Given the description of an element on the screen output the (x, y) to click on. 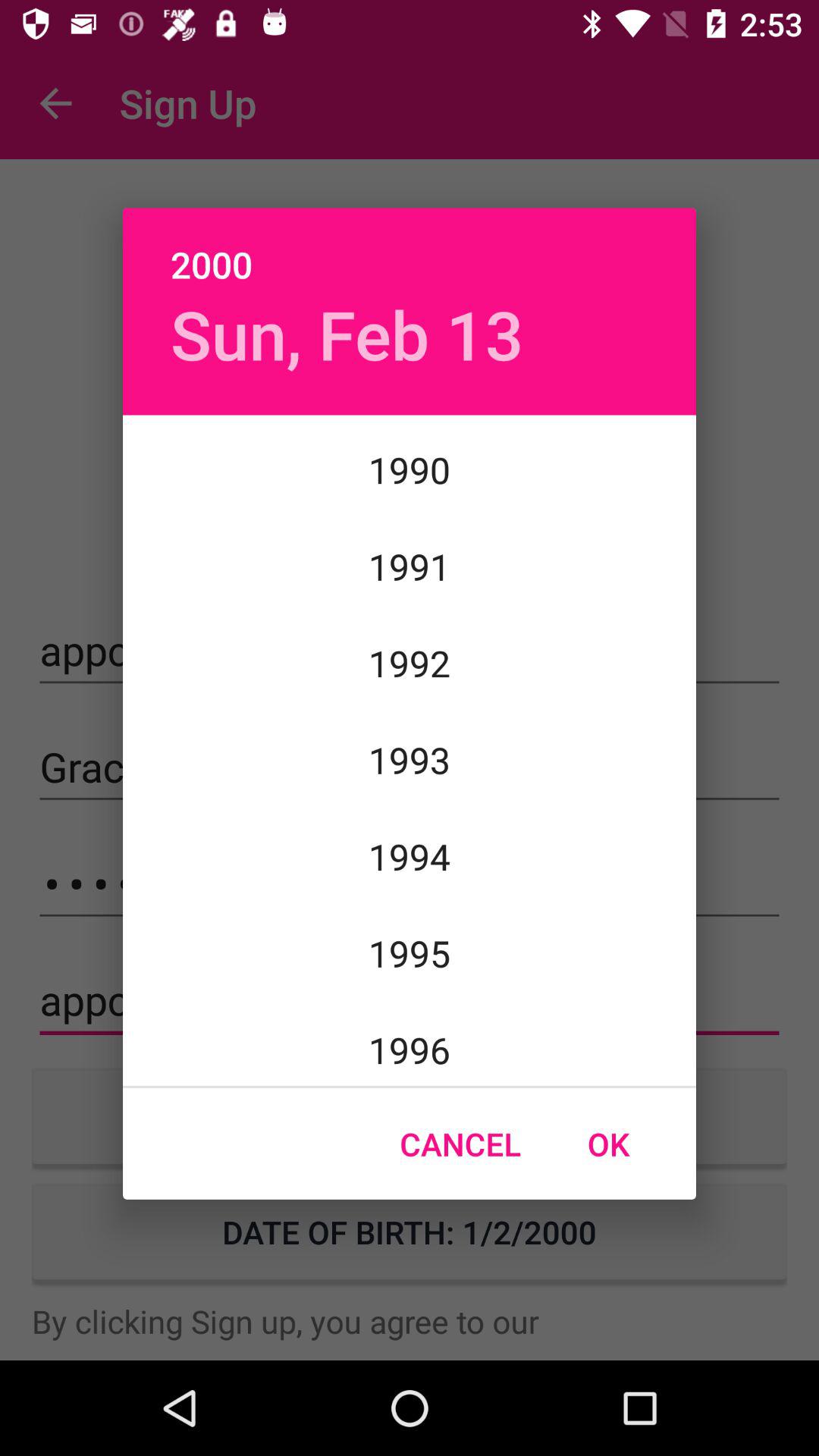
jump until the cancel (459, 1143)
